Given the description of an element on the screen output the (x, y) to click on. 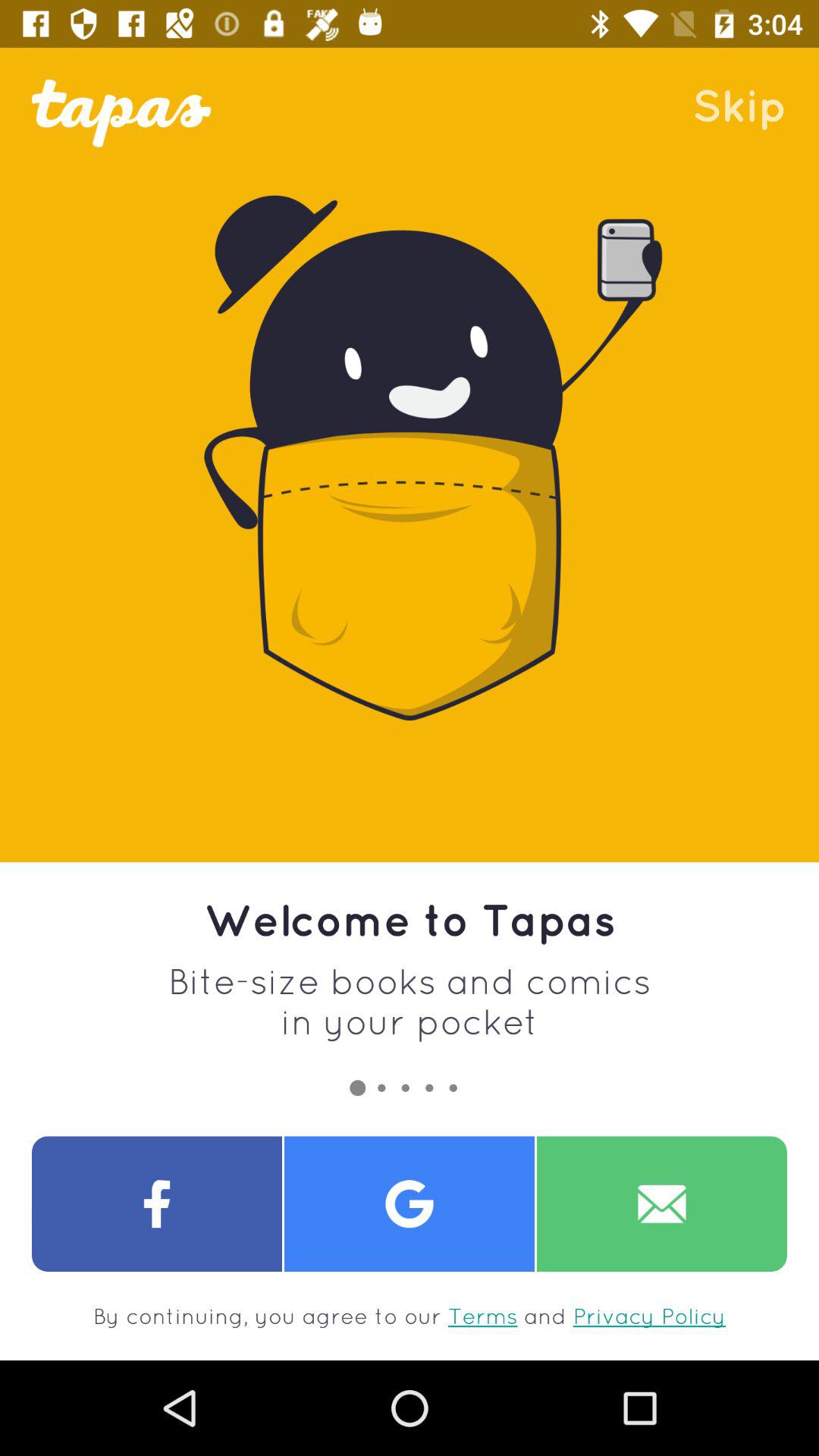
click icon above welcome to tapas (739, 104)
